Given the description of an element on the screen output the (x, y) to click on. 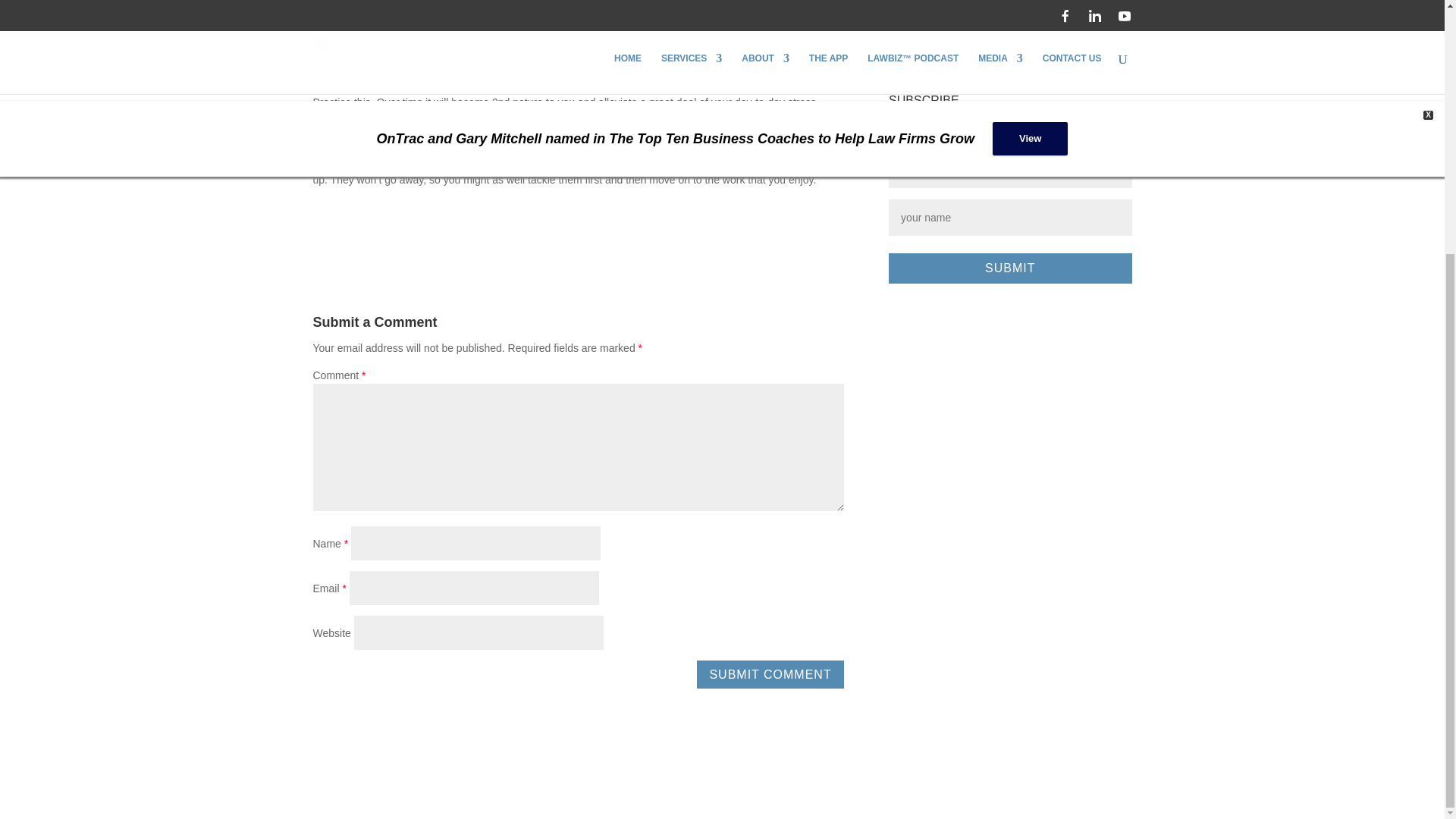
Submit Comment (770, 674)
SUBMIT (1009, 268)
Submit Comment (770, 674)
